Given the description of an element on the screen output the (x, y) to click on. 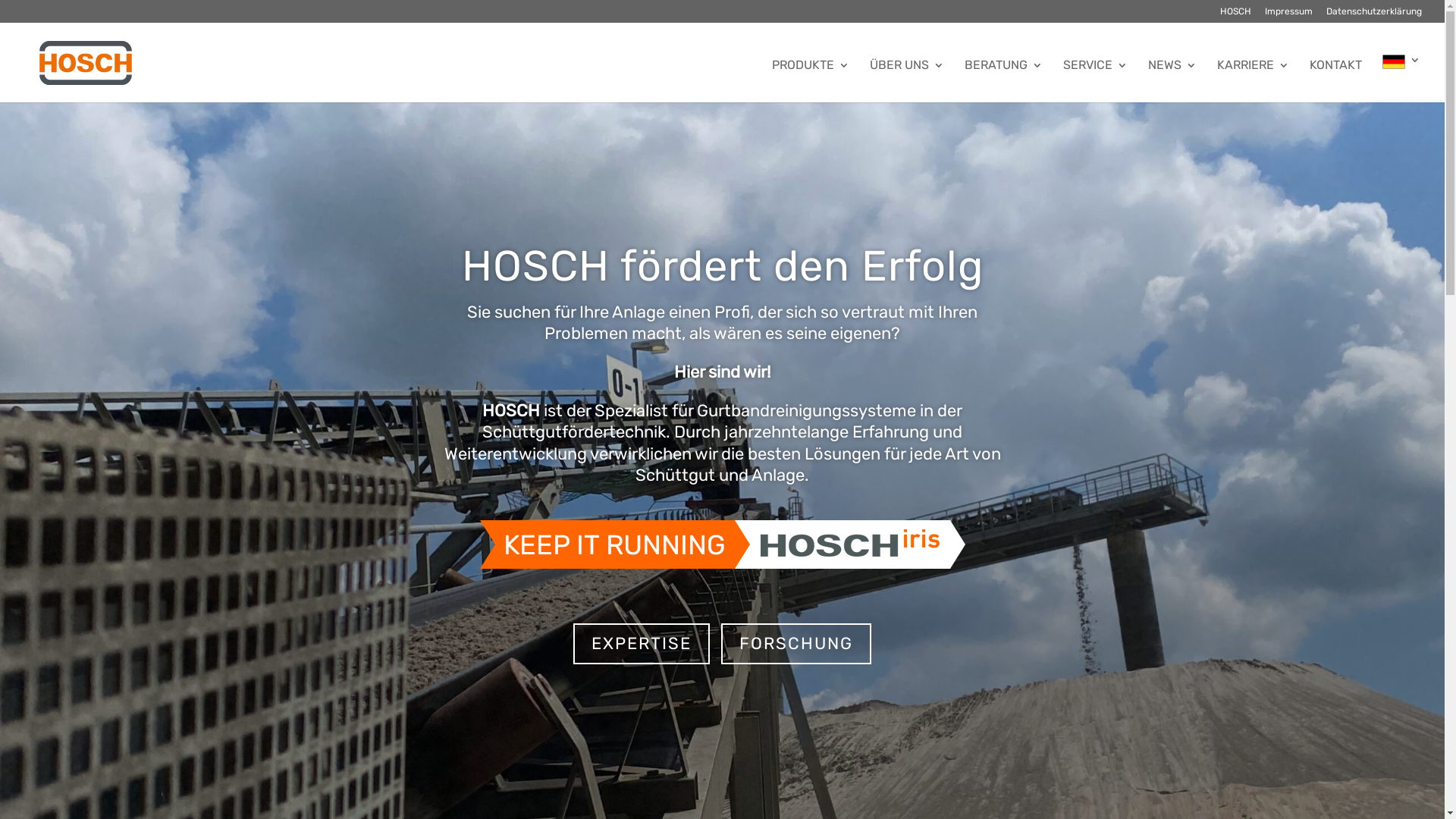
NEWS Element type: text (1172, 80)
EXPERTISE Element type: text (641, 644)
Impressum Element type: text (1288, 14)
KARRIERE Element type: text (1253, 80)
FORSCHUNG Element type: text (796, 644)
KONTAKT Element type: text (1335, 80)
HOSCH Element type: text (1235, 14)
SERVICE Element type: text (1095, 80)
PRODUKTE Element type: text (810, 80)
BERATUNG Element type: text (1003, 80)
